Given the description of an element on the screen output the (x, y) to click on. 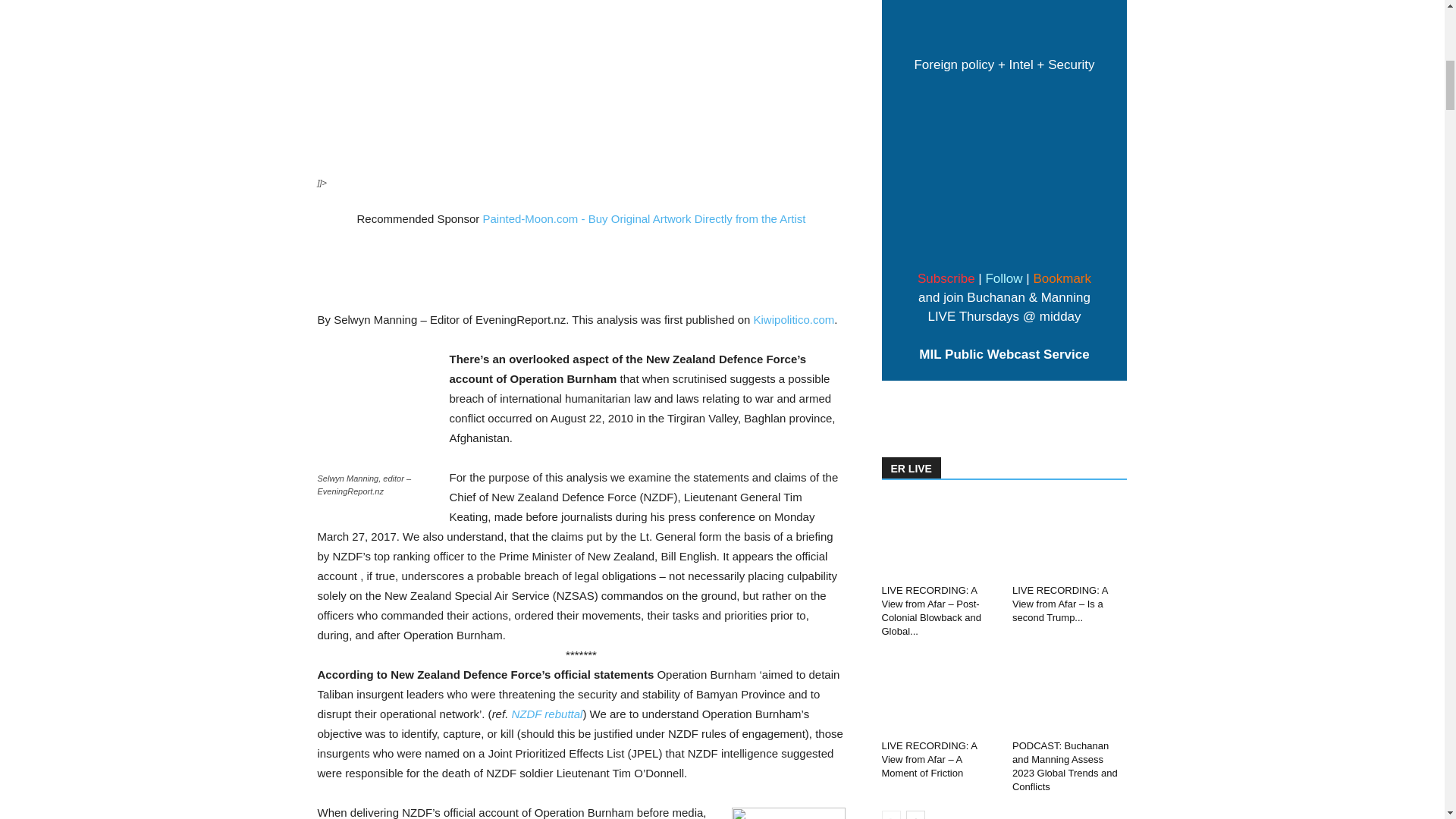
3rd party ad content (580, 251)
